Given the description of an element on the screen output the (x, y) to click on. 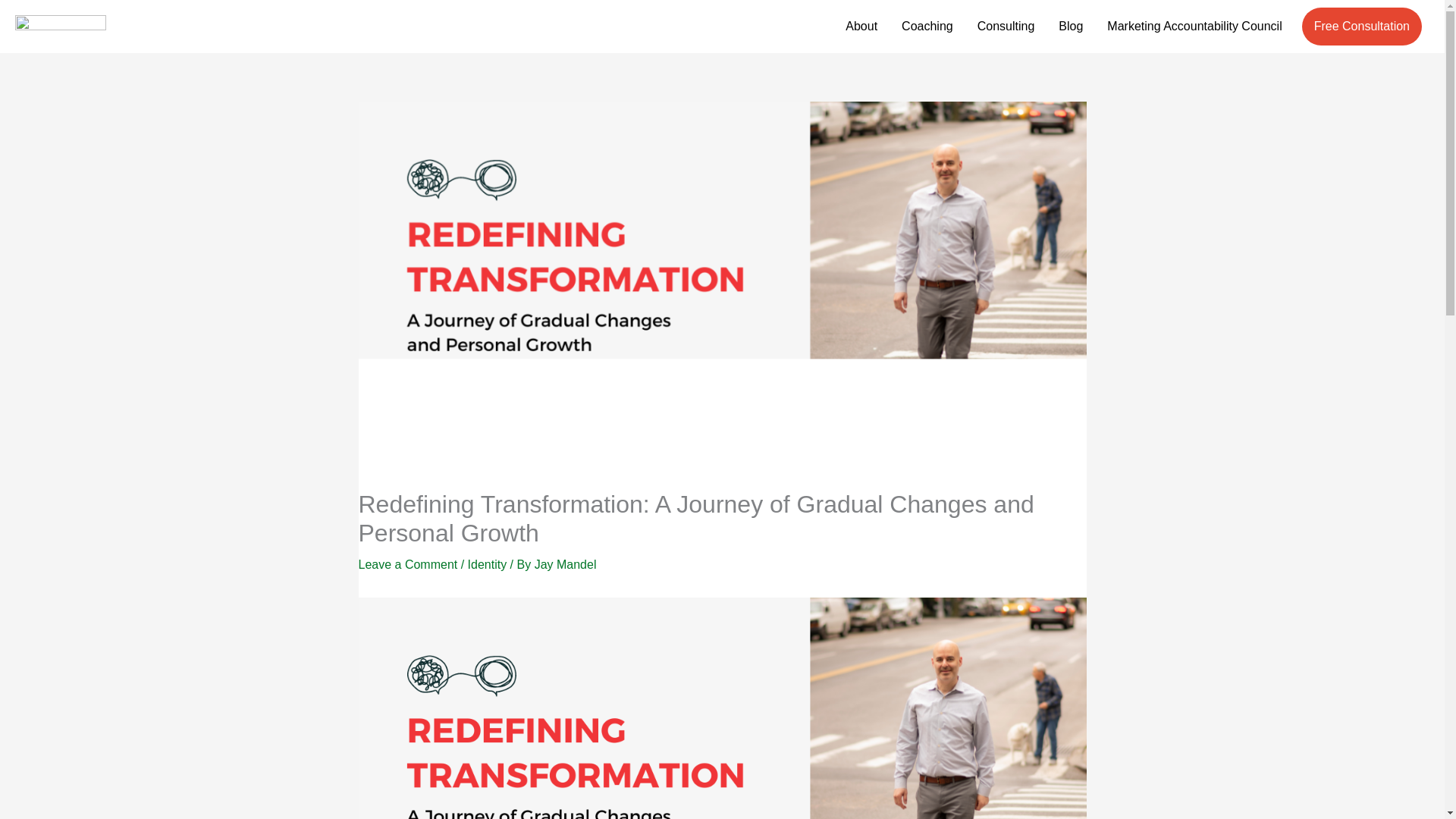
View all posts by Jay Mandel (565, 563)
Marketing Accountability Council (1194, 26)
Jay Mandel (565, 563)
About (860, 26)
Coaching (927, 26)
Consulting (1005, 26)
Free Consultation (1361, 26)
Identity (486, 563)
Leave a Comment (407, 563)
Blog (1070, 26)
